Given the description of an element on the screen output the (x, y) to click on. 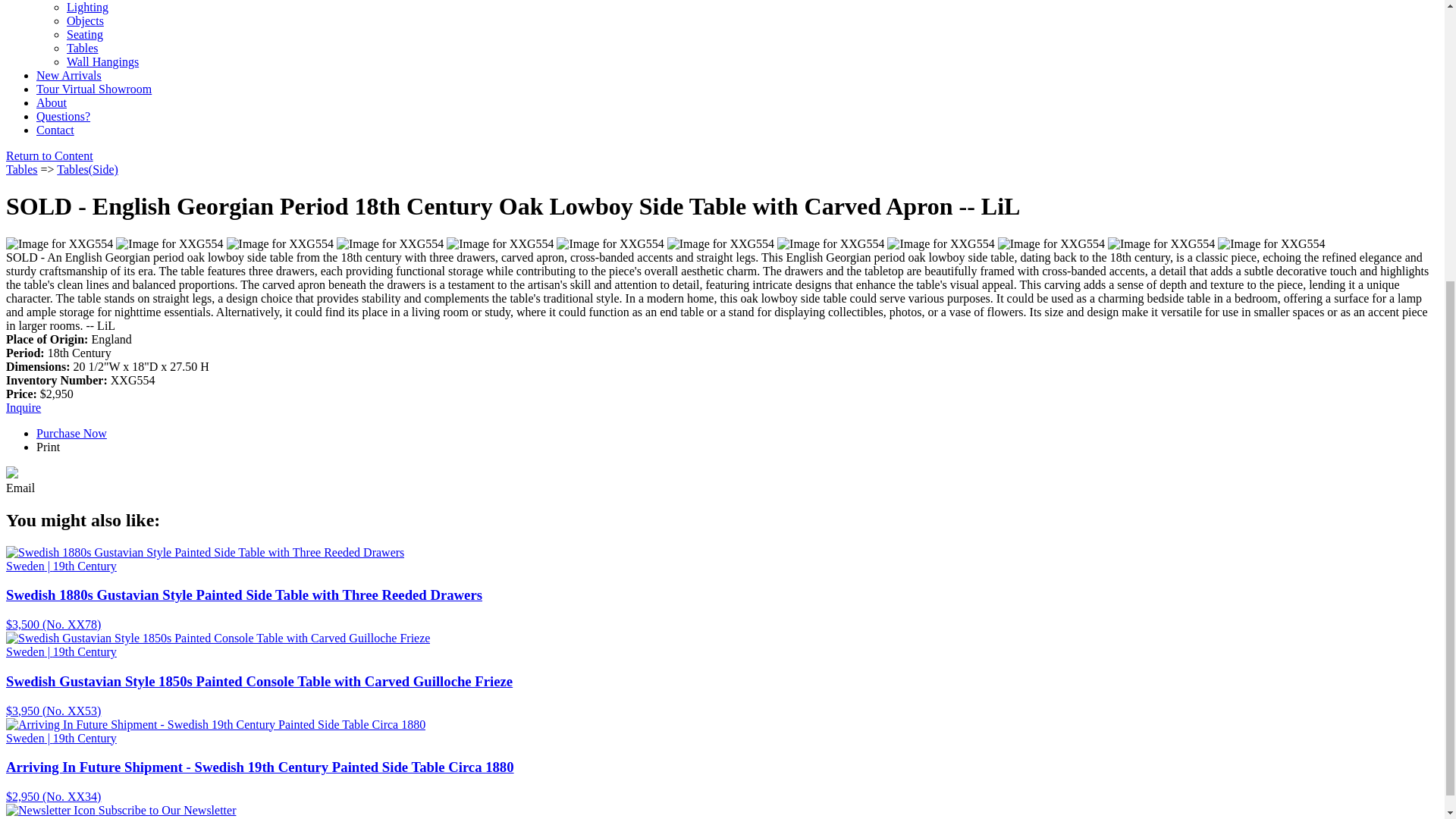
Seating (84, 33)
Objects (84, 20)
Contact (55, 129)
Questions? (63, 115)
Return to Content (49, 155)
Wall Hangings (102, 61)
Lighting (86, 6)
Tables (82, 47)
About (51, 102)
Tables (21, 169)
Purchase Now (22, 407)
Purchase Now (71, 432)
New Arrivals (68, 74)
Tour Virtual Showroom (93, 88)
Inquire (22, 407)
